Given the description of an element on the screen output the (x, y) to click on. 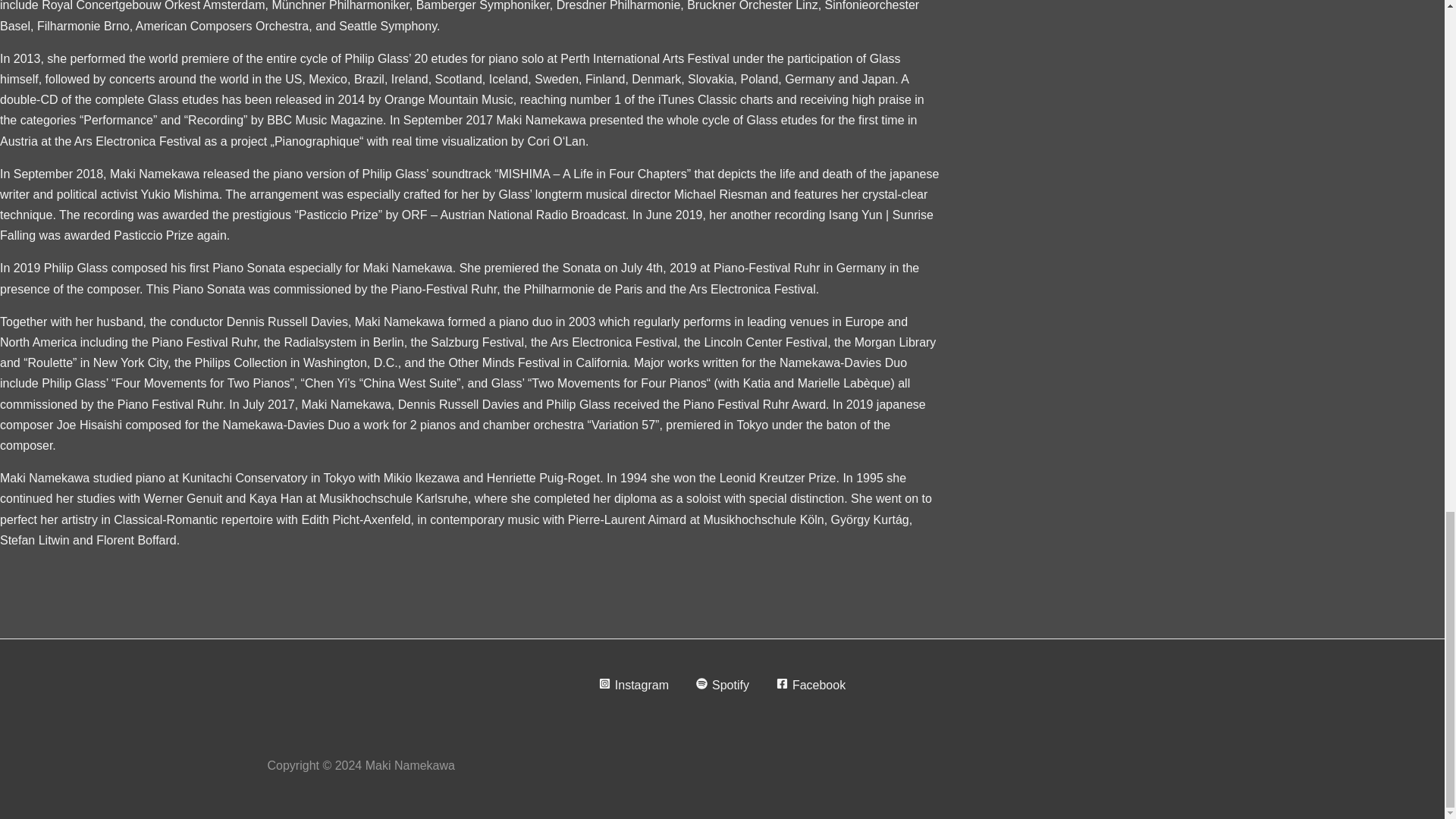
Spotify (722, 684)
Instagram (634, 684)
Facebook (810, 684)
